Given the description of an element on the screen output the (x, y) to click on. 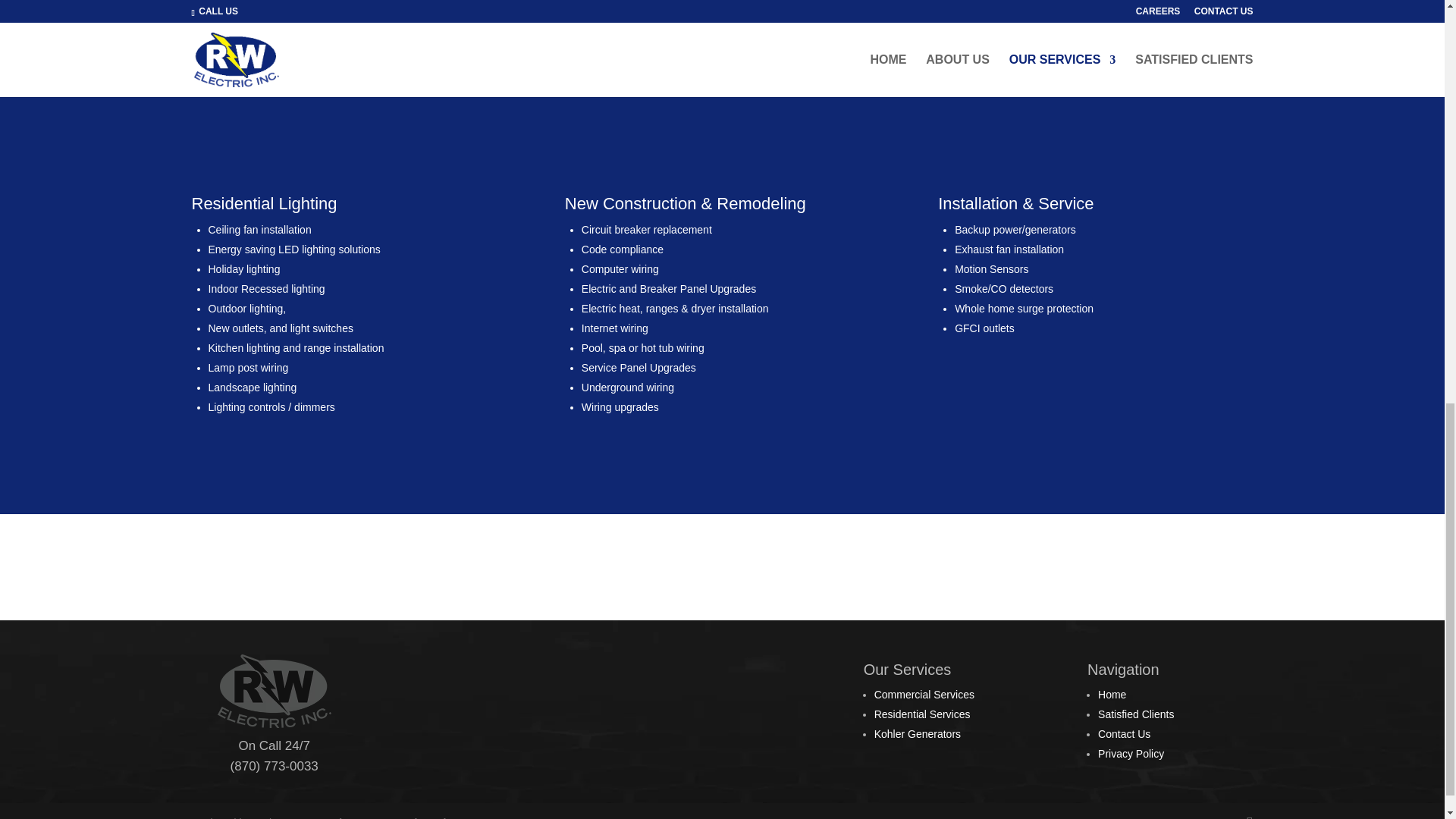
Home (1111, 694)
Privacy Policy (1130, 753)
Satisfied Clients (1135, 714)
Texarkana Texas Web Design (385, 817)
Contact Us (1123, 734)
Residential Services (923, 714)
Commercial Services (924, 694)
Kohler Generators (917, 734)
